Given the description of an element on the screen output the (x, y) to click on. 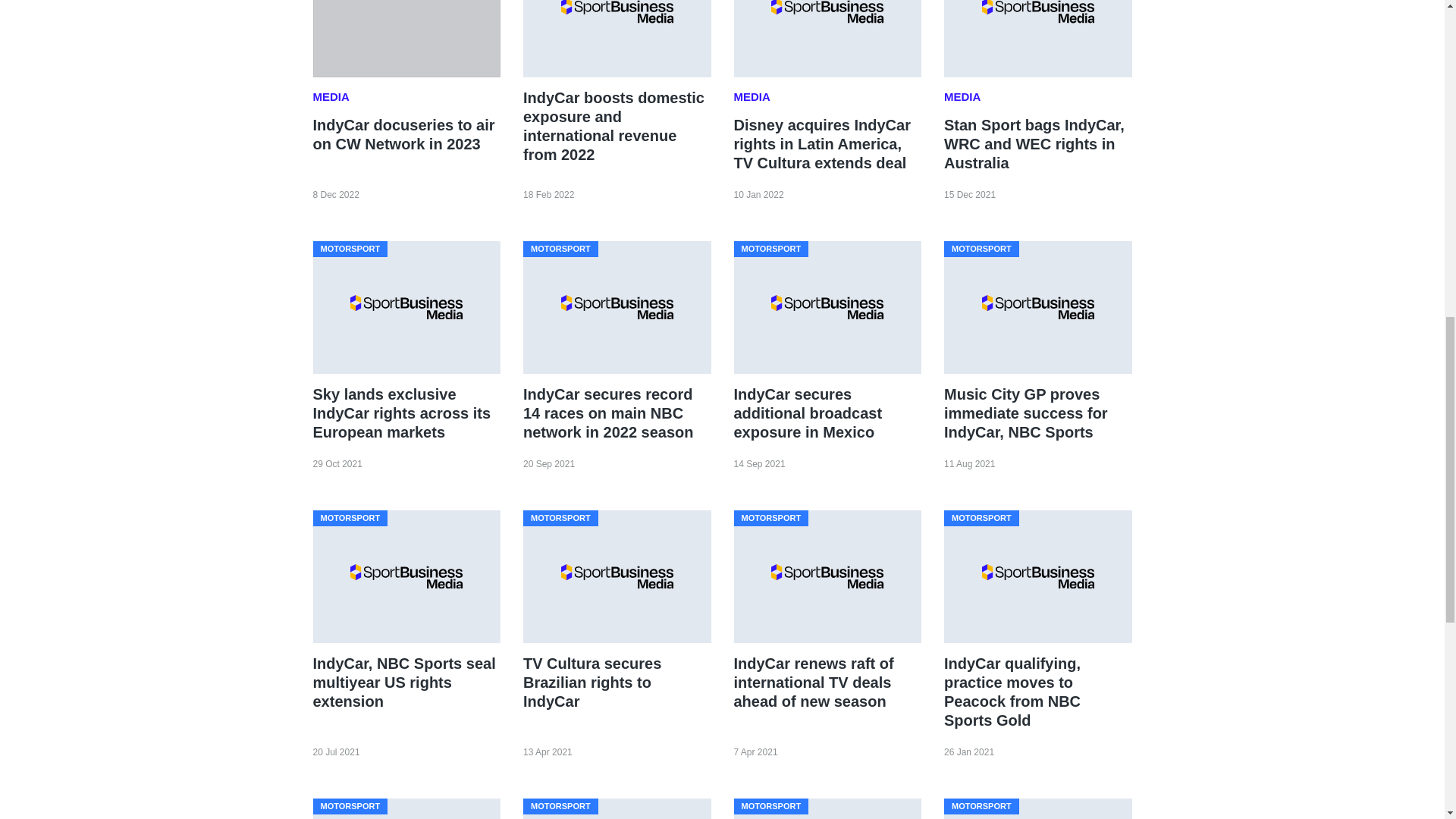
MEDIA (332, 97)
MEDIA (753, 97)
IndyCar docuseries to air on CW Network in 2023 (404, 134)
